Given the description of an element on the screen output the (x, y) to click on. 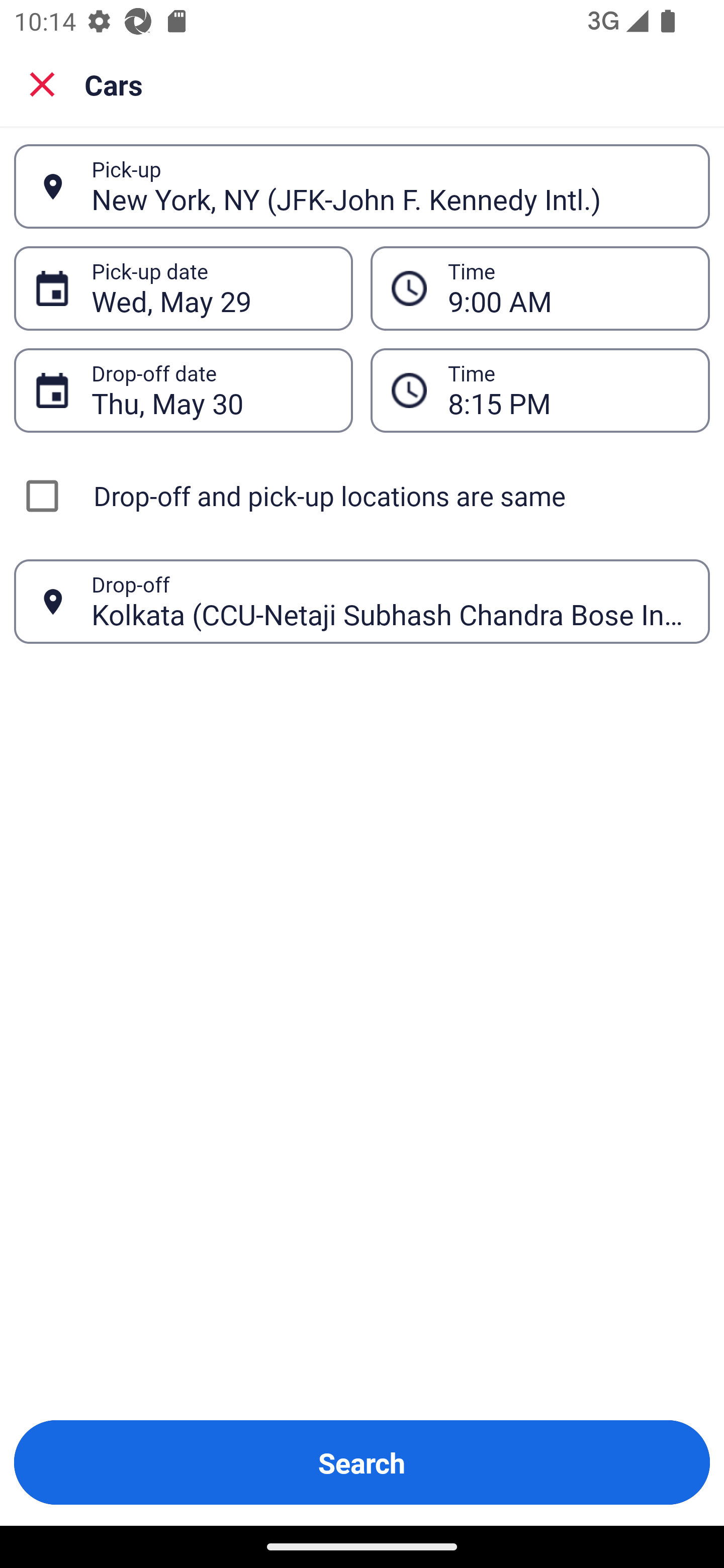
Close search screen (41, 83)
New York, NY (JFK-John F. Kennedy Intl.) Pick-up (361, 186)
New York, NY (JFK-John F. Kennedy Intl.) (389, 186)
Wed, May 29 Pick-up date (183, 288)
9:00 AM (540, 288)
Wed, May 29 (211, 288)
9:00 AM (568, 288)
Thu, May 30 Drop-off date (183, 390)
8:15 PM (540, 390)
Thu, May 30 (211, 390)
8:15 PM (568, 390)
Drop-off and pick-up locations are same (361, 495)
Kolkata (CCU-Netaji Subhash Chandra Bose Intl.) (389, 601)
Search Button Search (361, 1462)
